Given the description of an element on the screen output the (x, y) to click on. 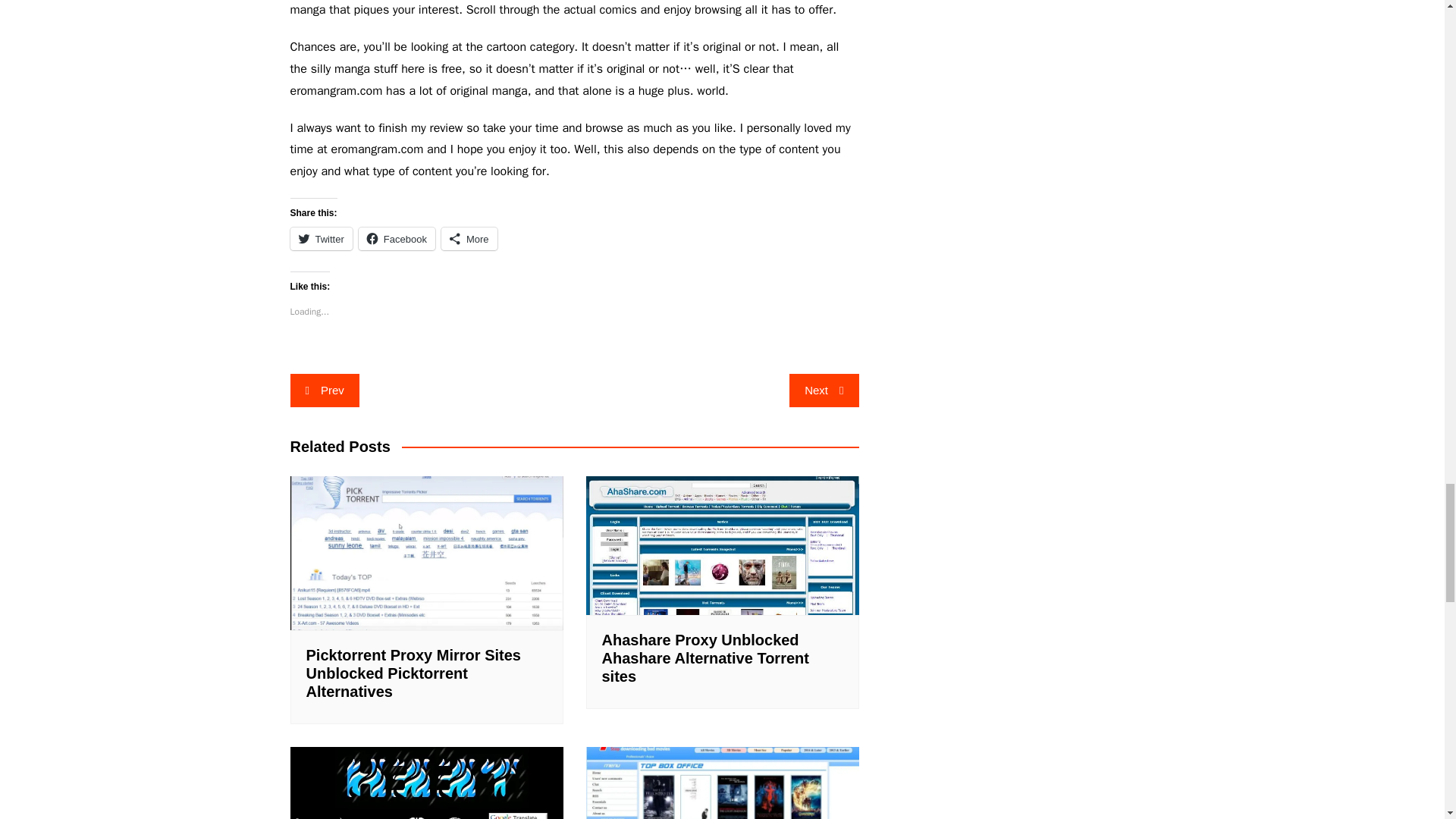
More (469, 238)
Prev (323, 390)
Click to share on Facebook (396, 238)
Facebook (396, 238)
Click to share on Twitter (320, 238)
Twitter (320, 238)
Next (824, 390)
